Given the description of an element on the screen output the (x, y) to click on. 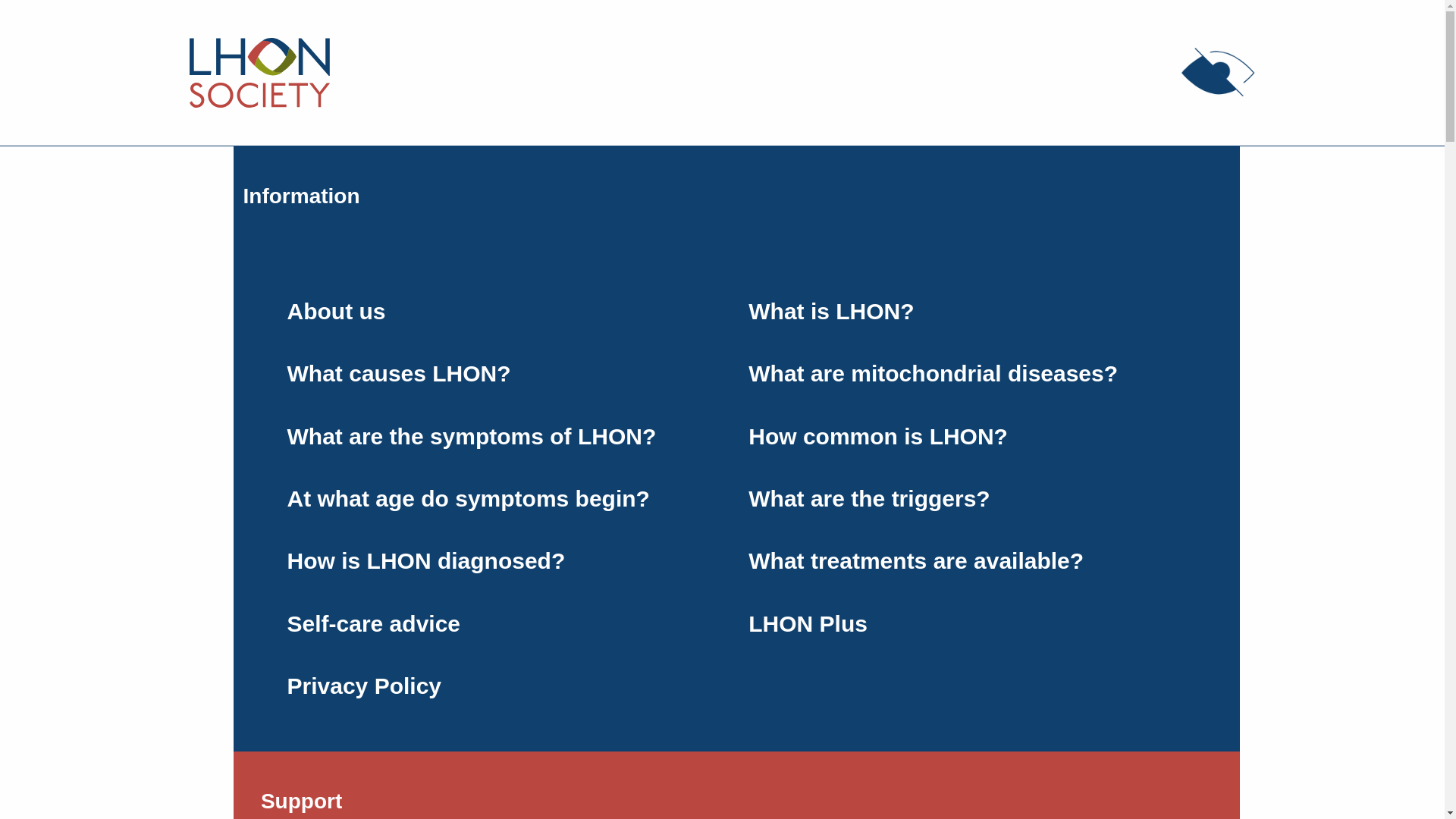
Information (300, 196)
What is LHON? (967, 311)
Enable recite accessibility toolbar (1217, 72)
About us (505, 311)
Self-care advice (505, 623)
How is LHON diagnosed? (505, 560)
What are mitochondrial diseases? (967, 373)
What are the symptoms of LHON? (505, 435)
Privacy Policy (505, 685)
What causes LHON? (505, 373)
LHON Plus (967, 623)
Support (300, 785)
At what age do symptoms begin? (505, 498)
What treatments are available? (967, 560)
What are the triggers? (967, 498)
